Given the description of an element on the screen output the (x, y) to click on. 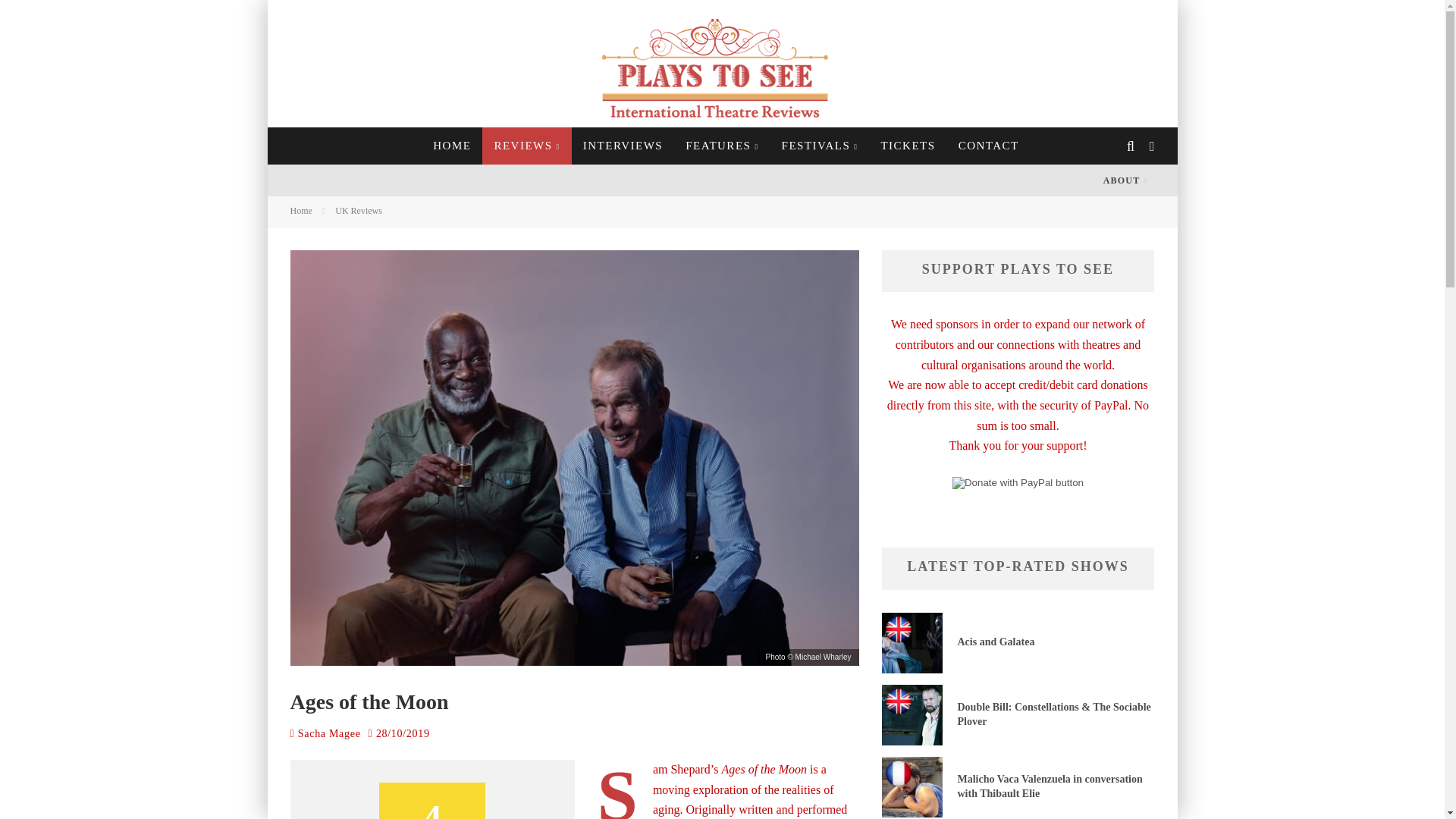
HOME (451, 145)
REVIEWS (525, 145)
PayPal - The safer, easier way to pay online! (1017, 481)
